Given the description of an element on the screen output the (x, y) to click on. 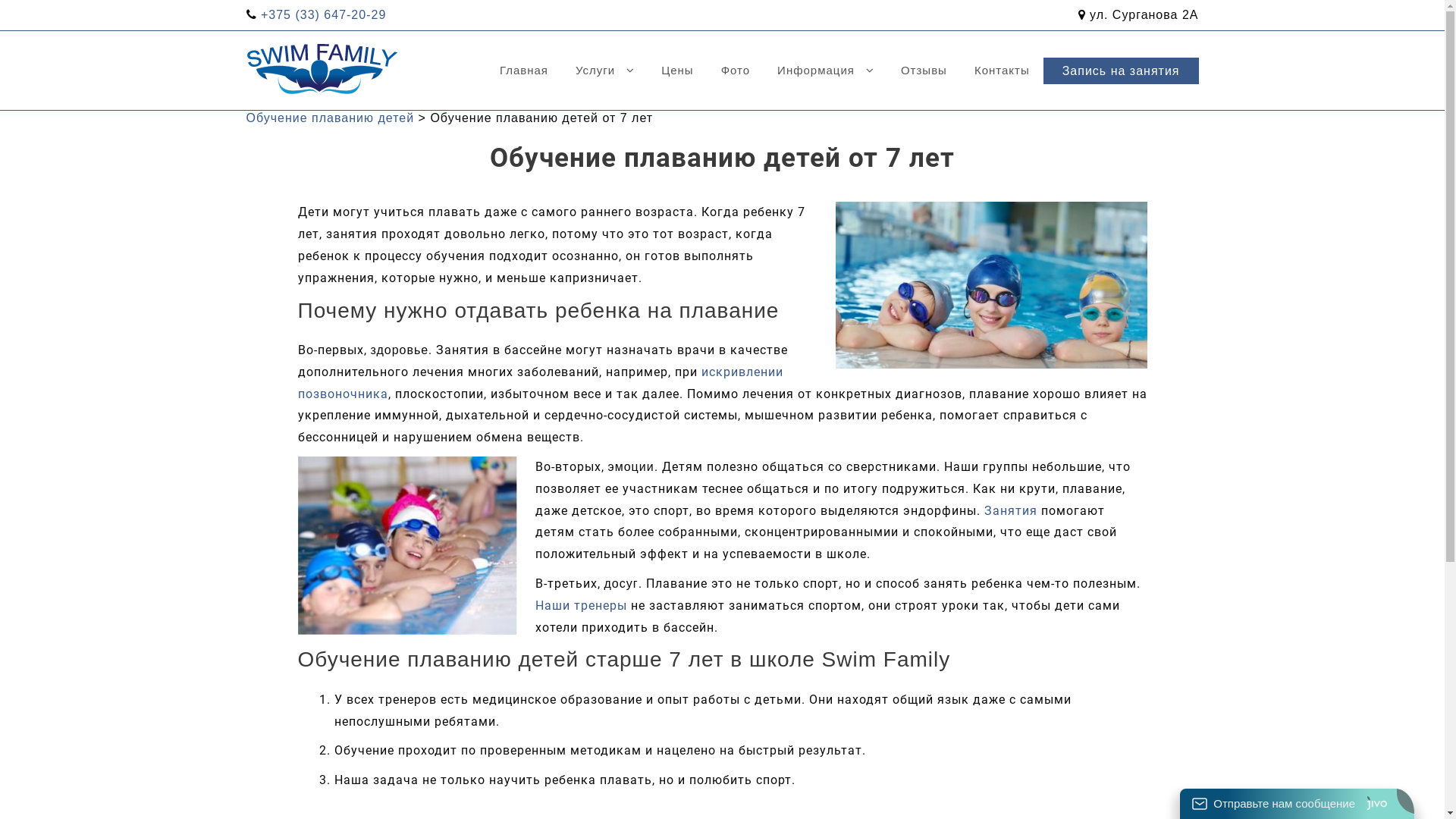
+375 (33) 647-20-29 Element type: text (322, 14)
